Given the description of an element on the screen output the (x, y) to click on. 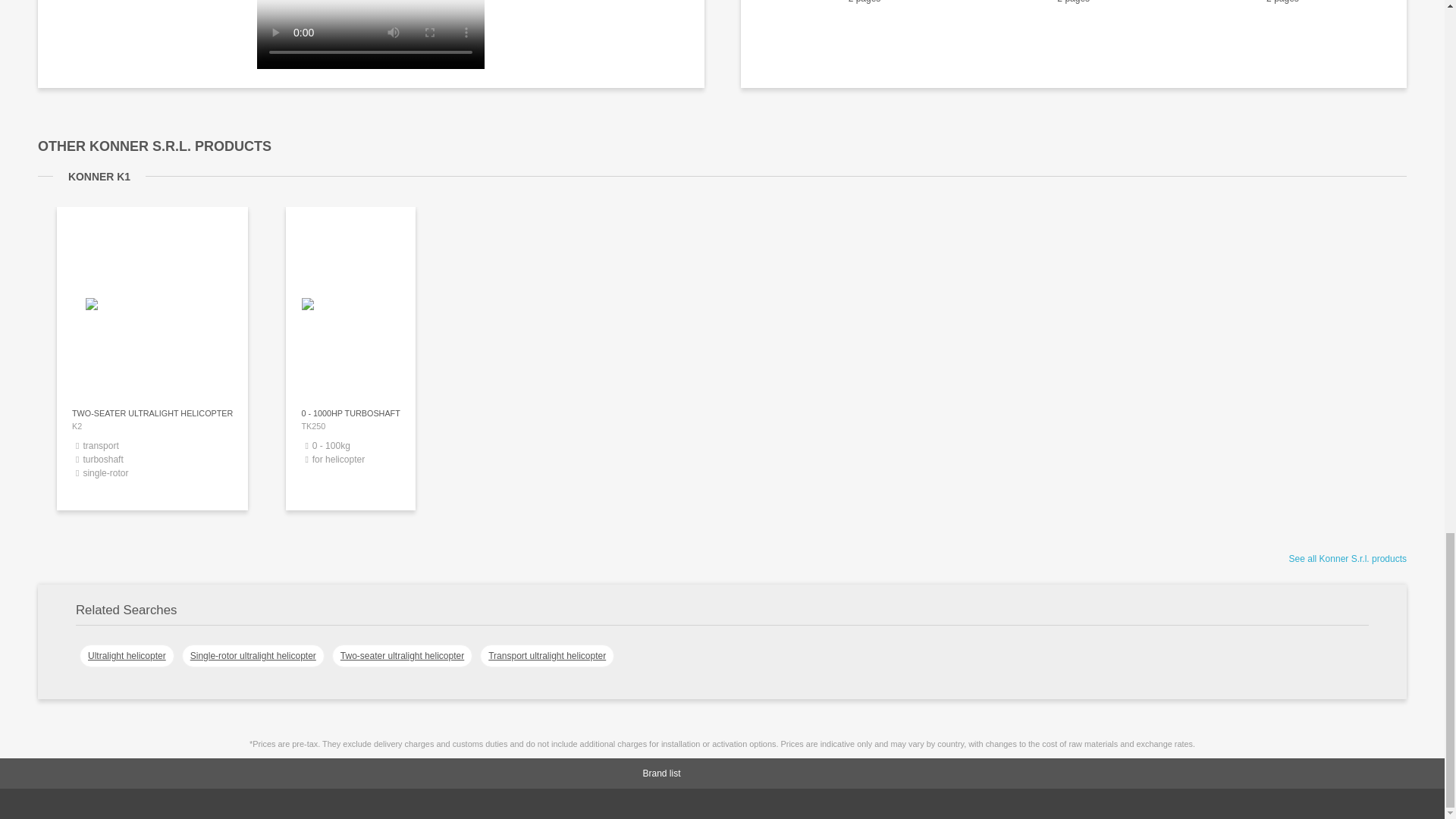
Brand list (349, 455)
See all Konner S.r.l. products (745, 773)
Transport ultralight helicopter (1347, 558)
Single-rotor ultralight helicopter (547, 655)
Two-seater ultralight helicopter (253, 655)
Ultralight helicopter (401, 655)
